Given the description of an element on the screen output the (x, y) to click on. 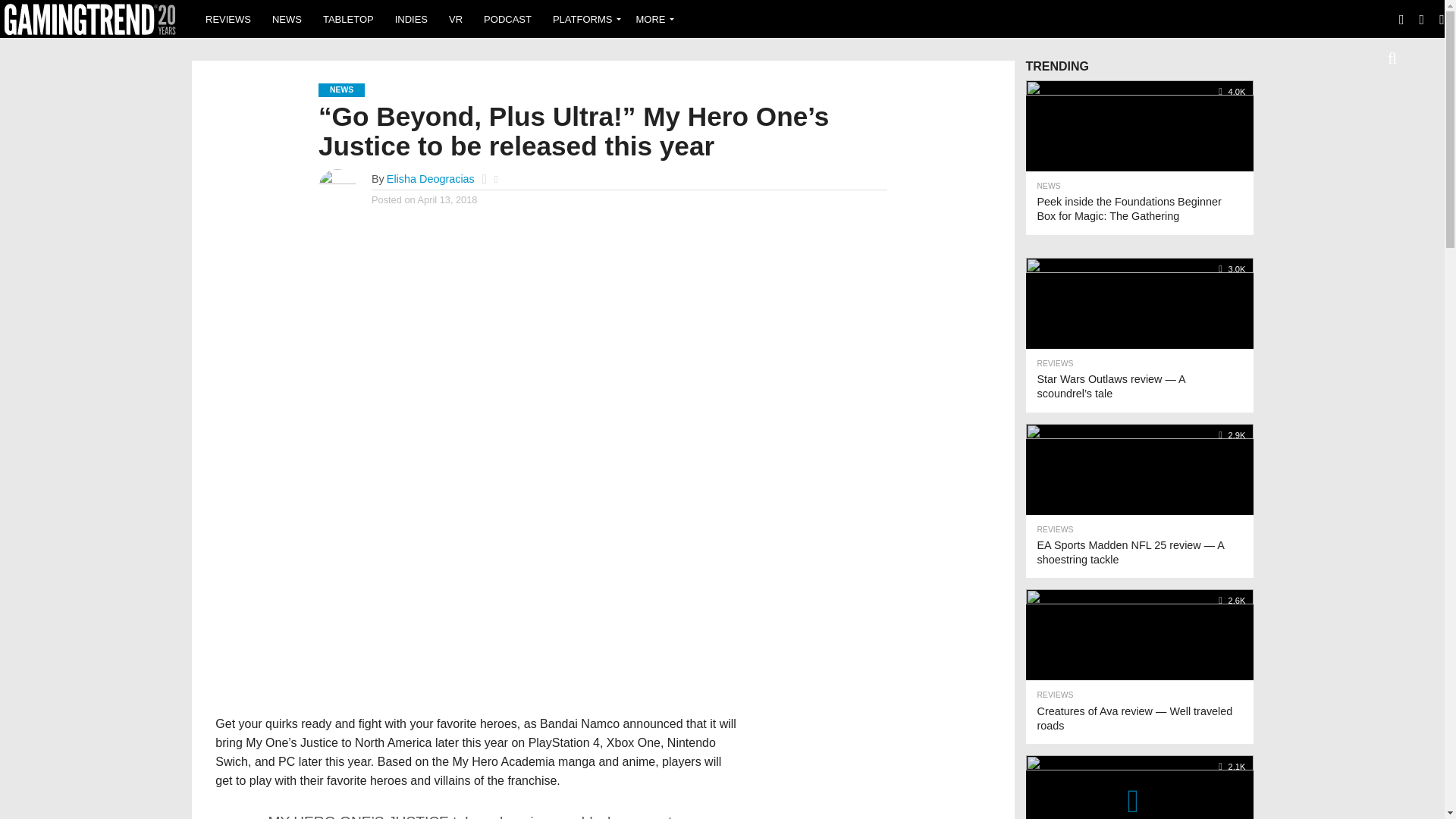
REVIEWS (228, 18)
INDIES (411, 18)
NEWS (287, 18)
TABLETOP (348, 18)
